Given the description of an element on the screen output the (x, y) to click on. 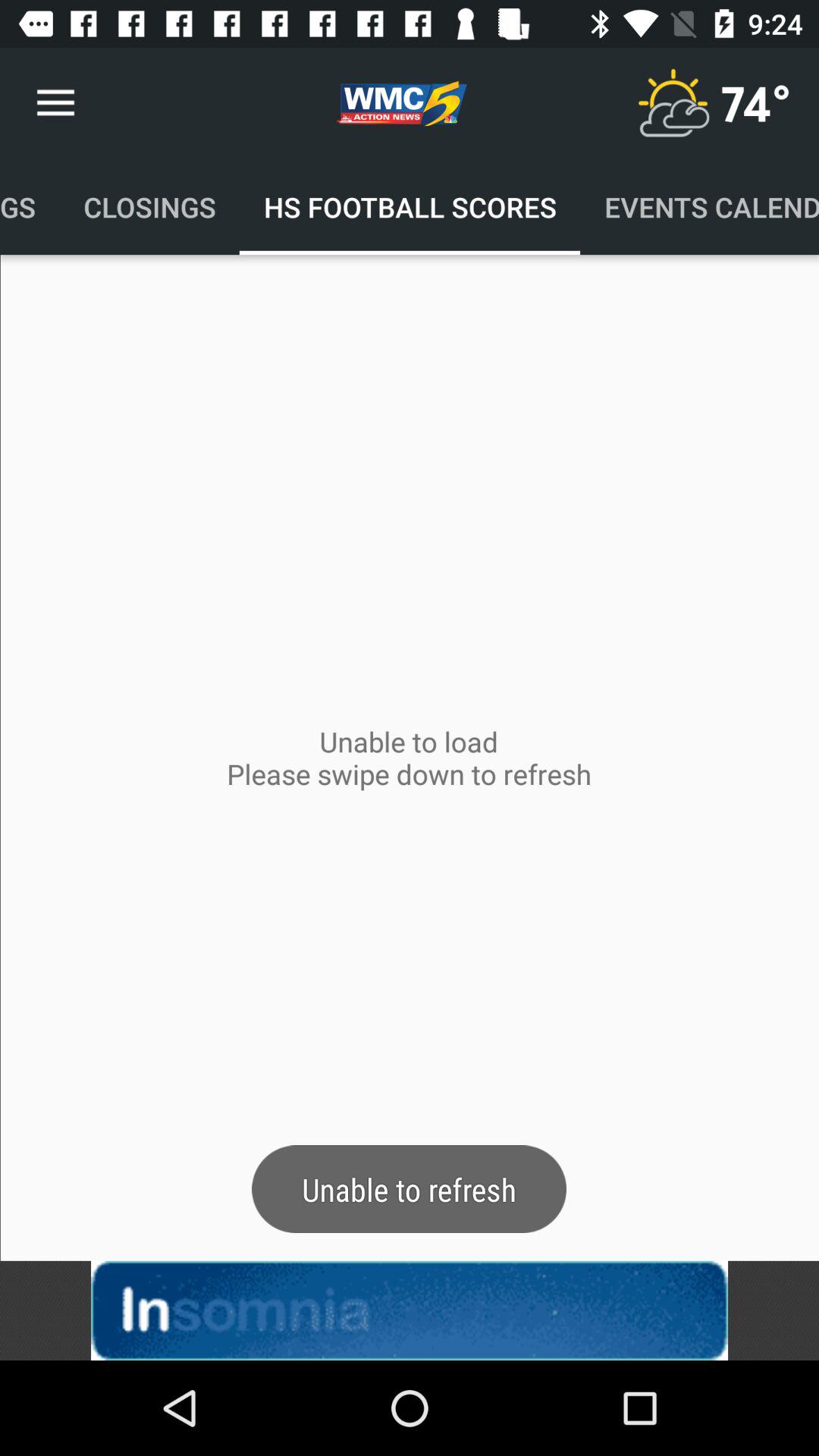
menu (673, 103)
